Given the description of an element on the screen output the (x, y) to click on. 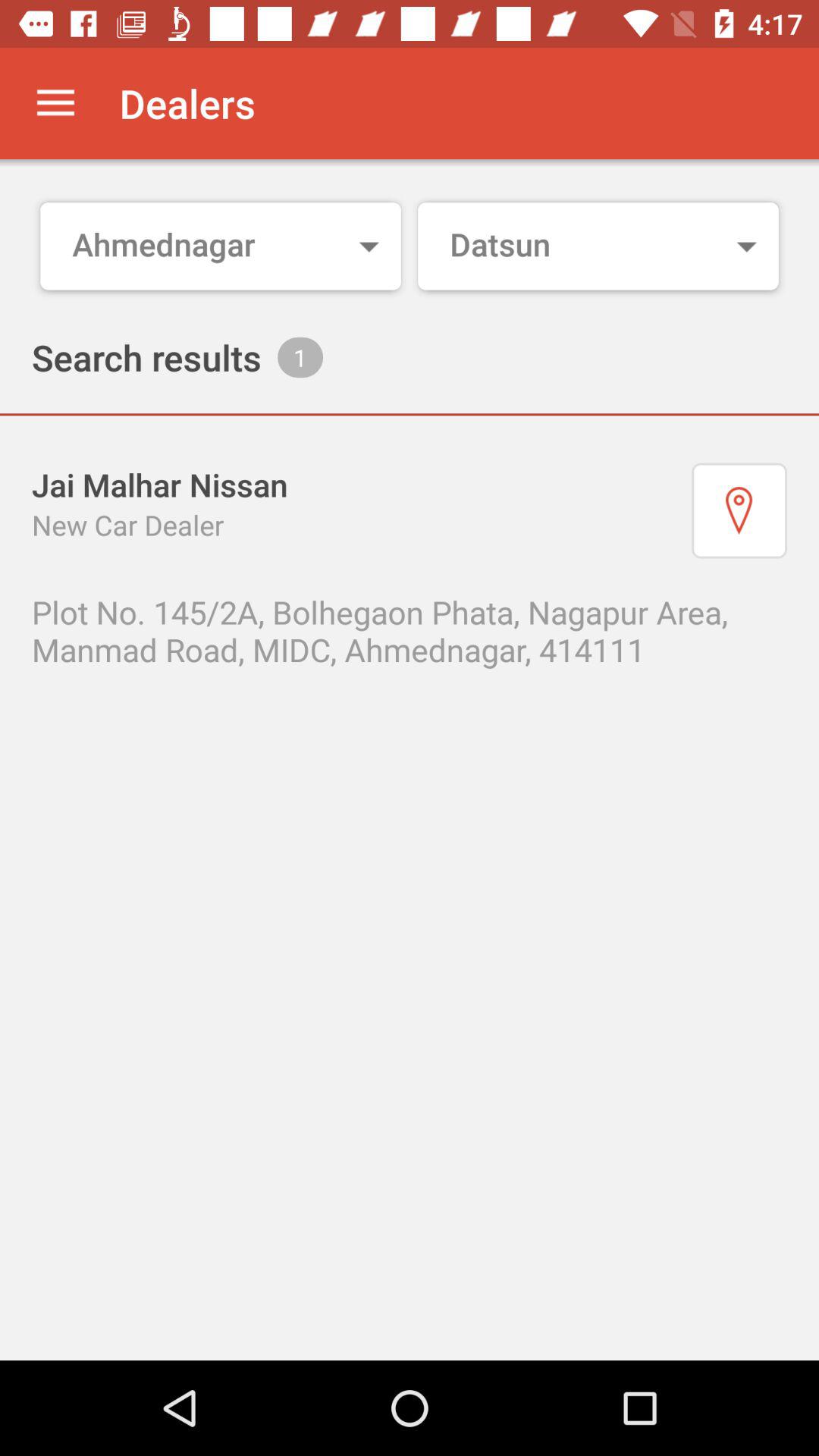
show location (739, 510)
